Given the description of an element on the screen output the (x, y) to click on. 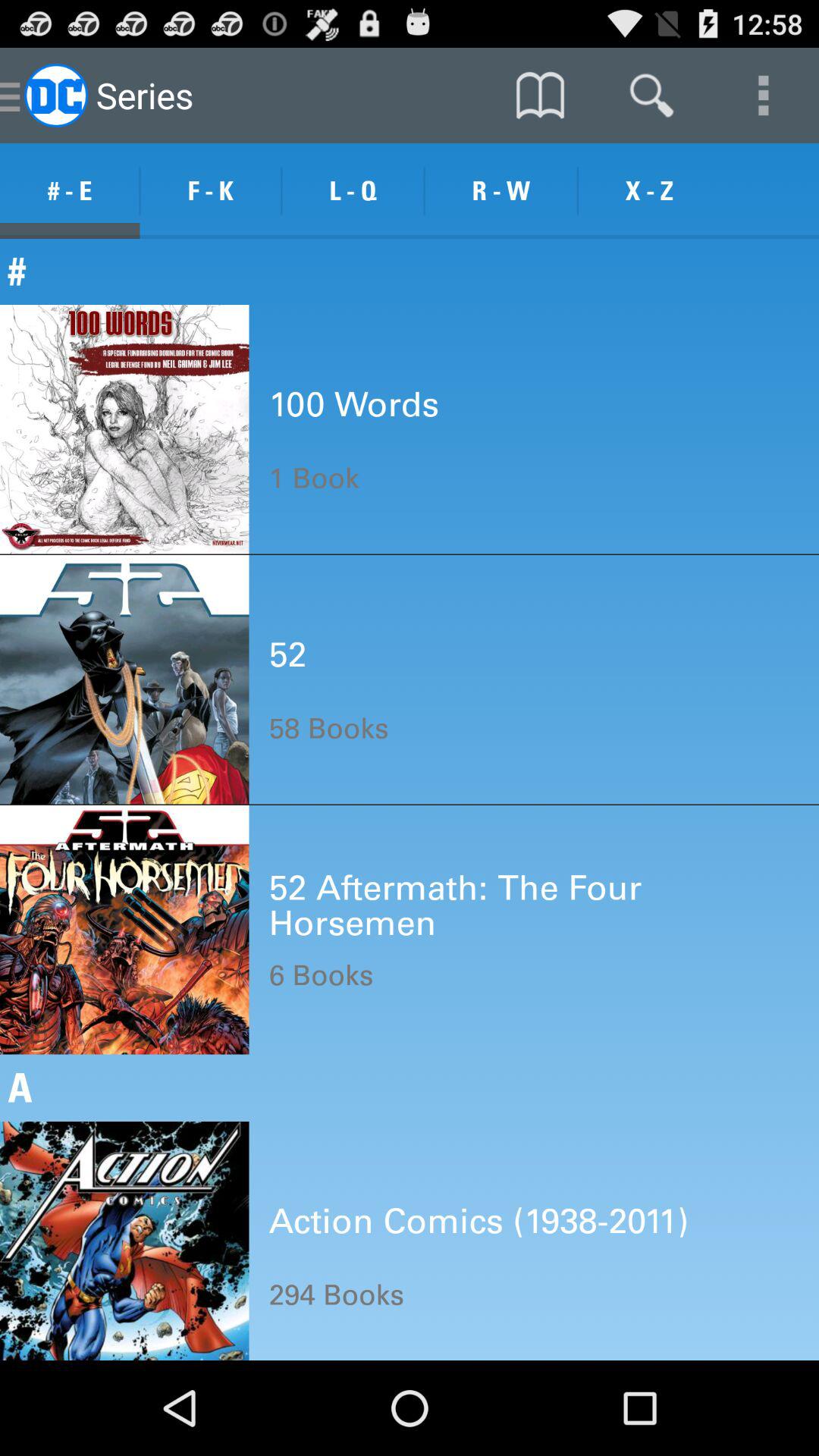
tap the # item (409, 270)
